Given the description of an element on the screen output the (x, y) to click on. 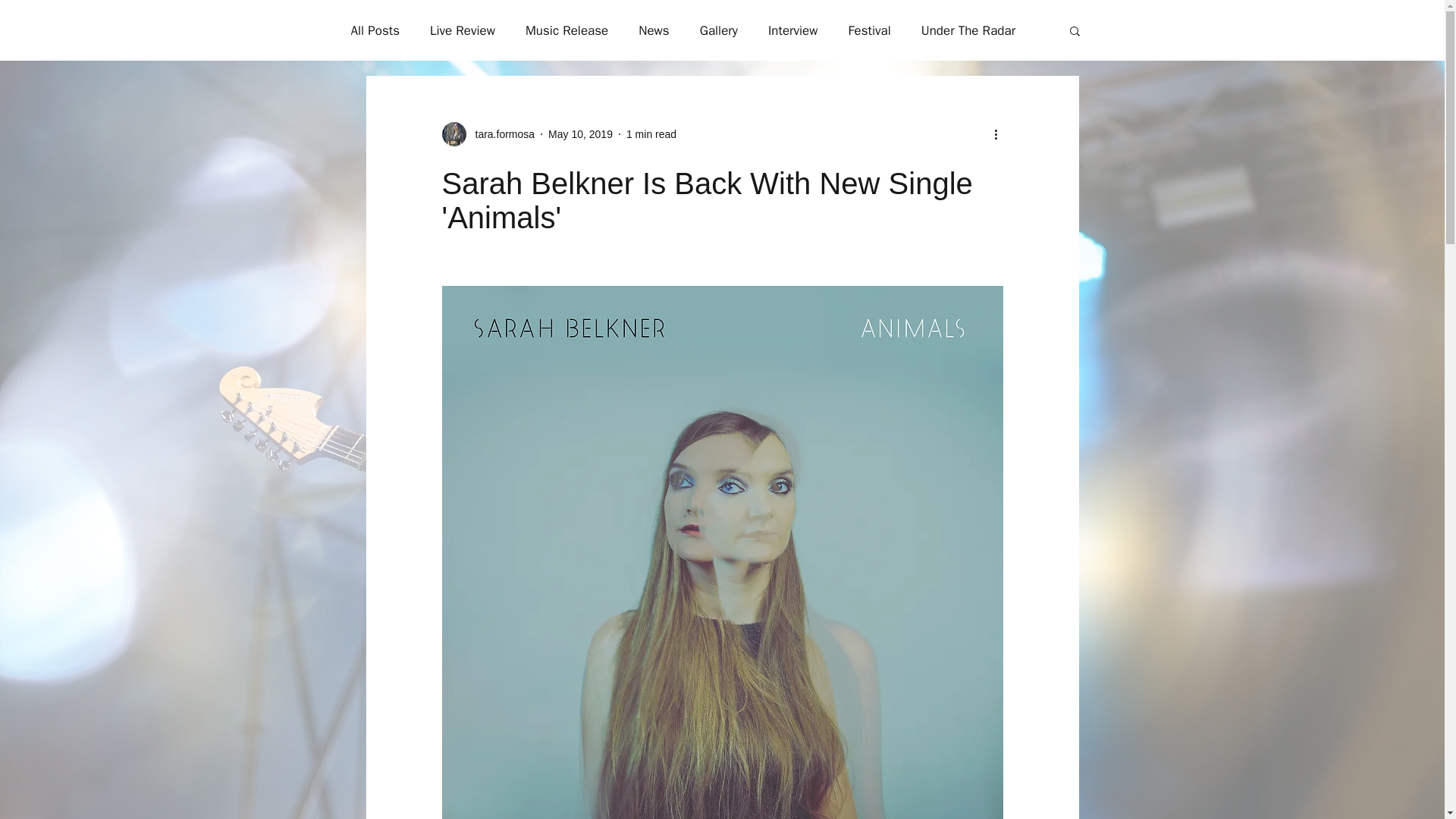
1 min read (651, 133)
Festival (868, 29)
Gallery (719, 29)
Under The Radar (967, 29)
Music Release (566, 29)
Interview (793, 29)
tara.formosa (487, 134)
News (653, 29)
All Posts (374, 29)
tara.formosa (499, 133)
Live Review (462, 29)
May 10, 2019 (580, 133)
